Given the description of an element on the screen output the (x, y) to click on. 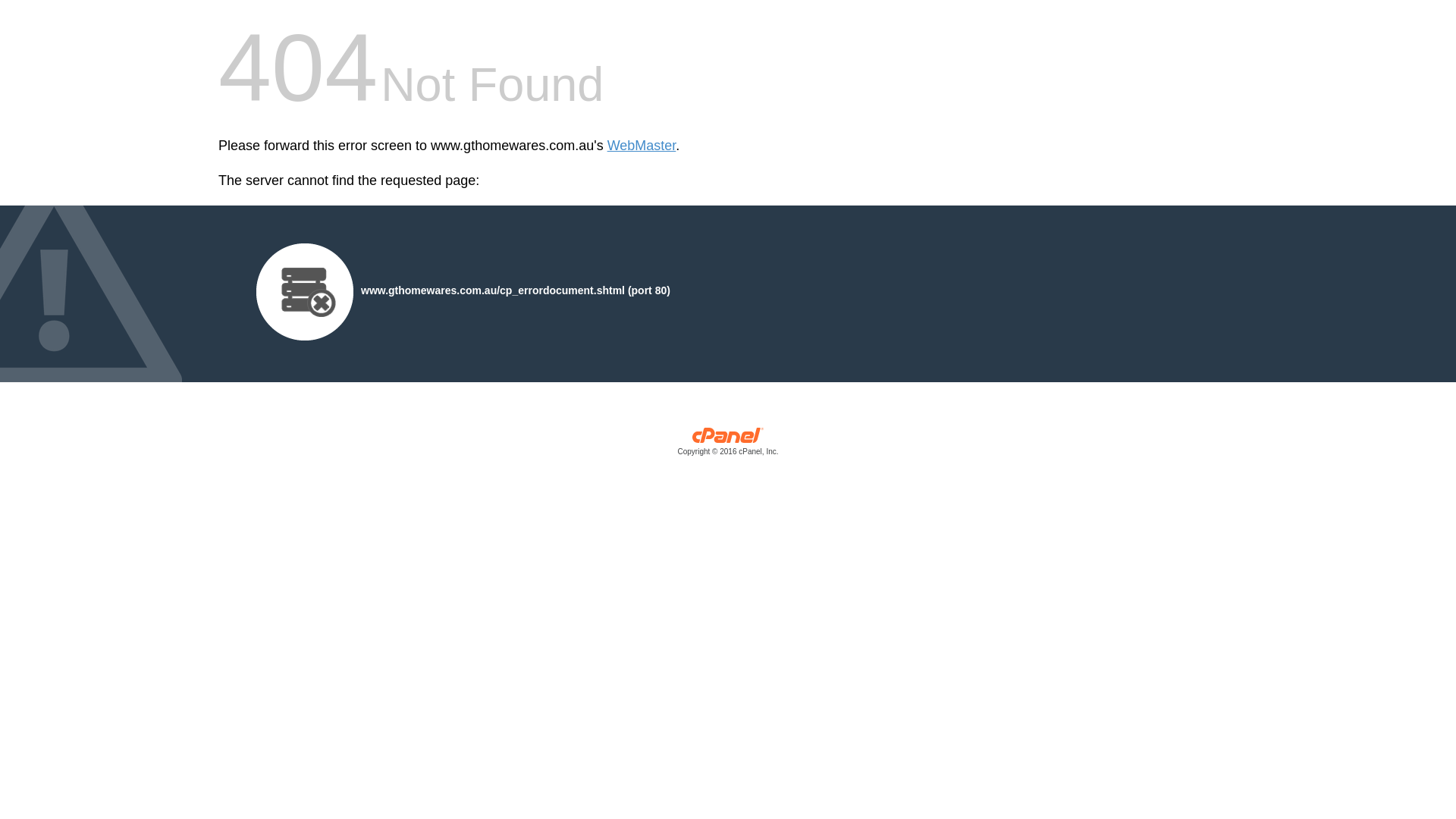
WebMaster Element type: text (641, 145)
